Given the description of an element on the screen output the (x, y) to click on. 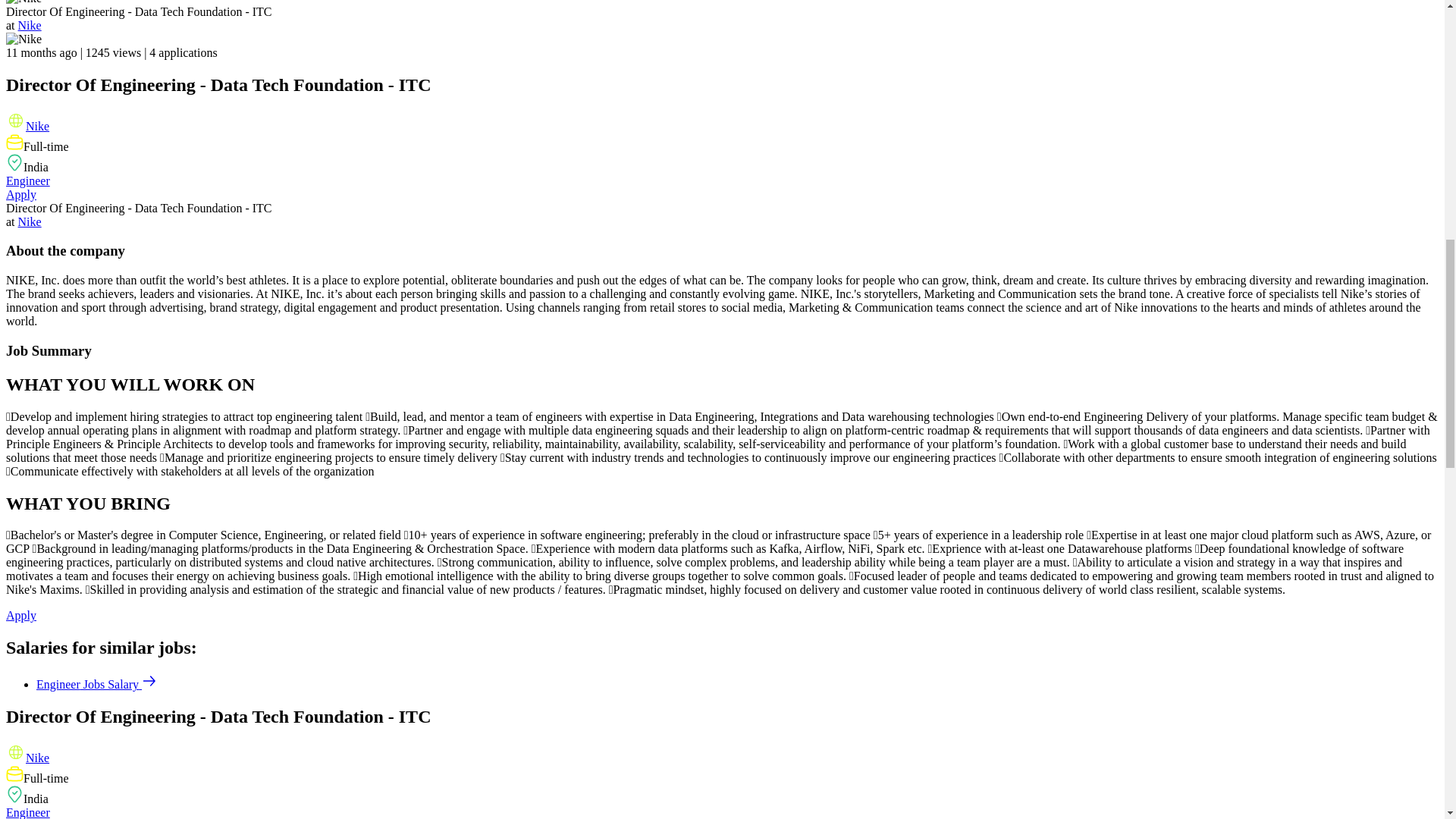
Apply (20, 615)
Nike (29, 221)
Nike (29, 24)
Engineer (27, 180)
Nike (37, 125)
Apply (20, 194)
